Given the description of an element on the screen output the (x, y) to click on. 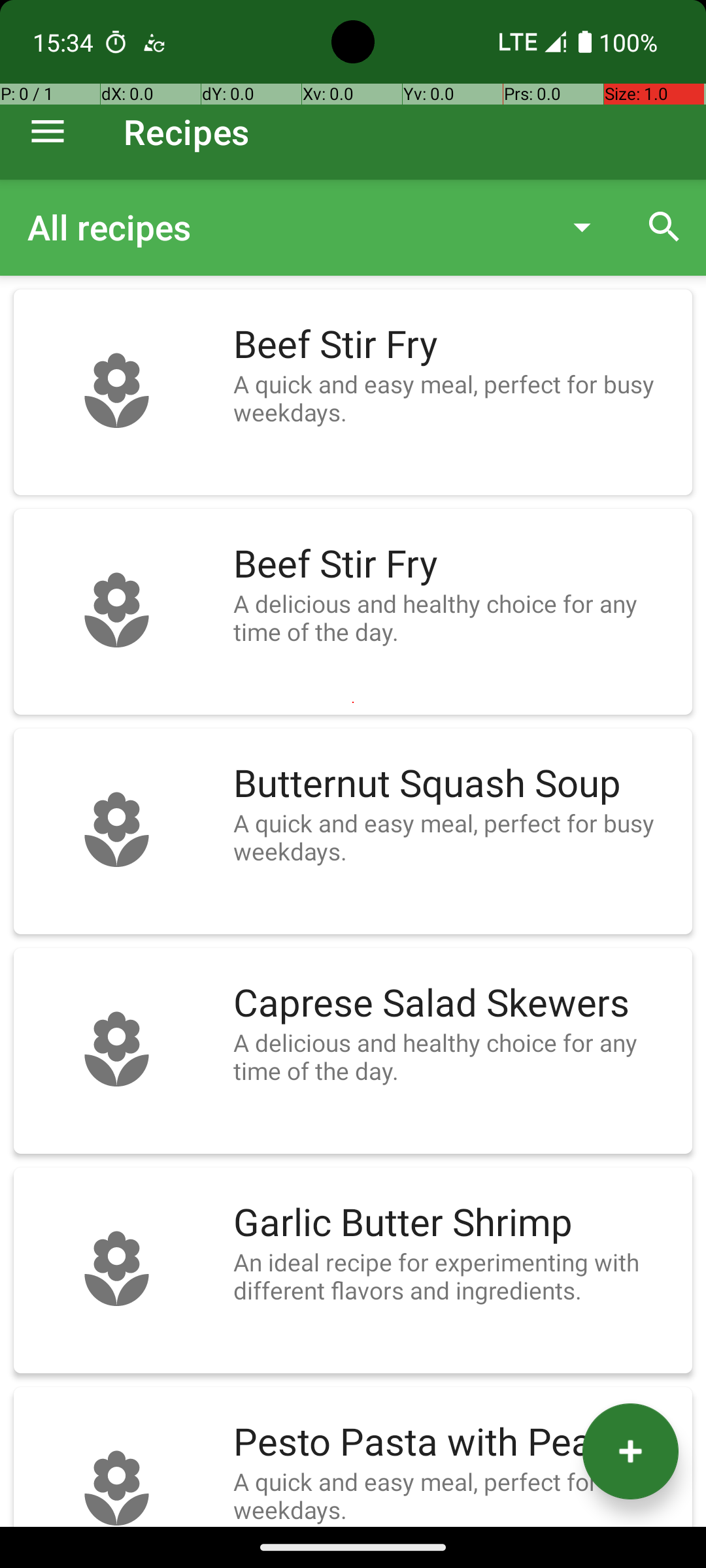
Pesto Pasta with Peas Element type: android.widget.TextView (455, 1442)
